Given the description of an element on the screen output the (x, y) to click on. 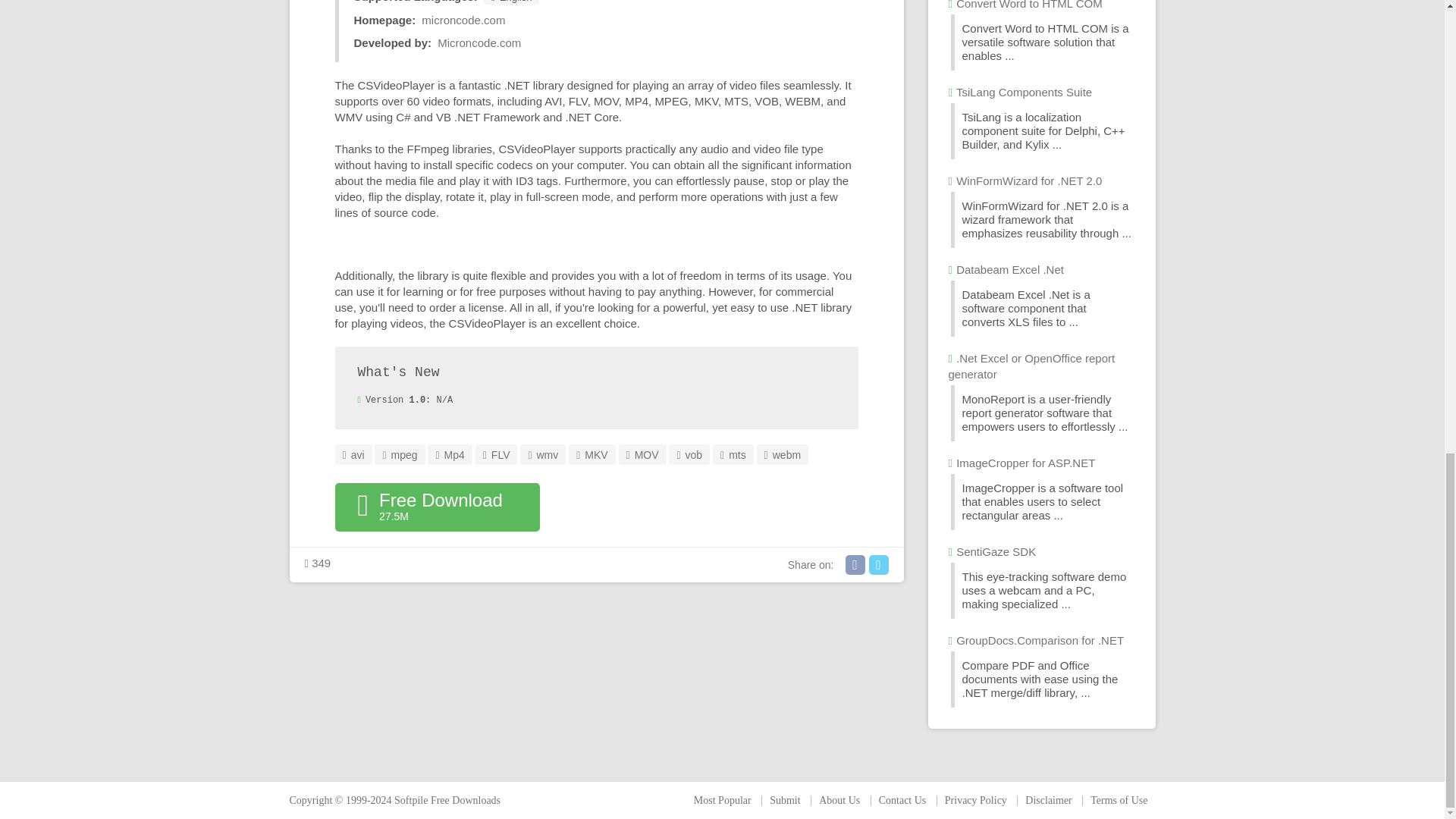
Download CSVideoPlayer 1.0 (437, 507)
